Given the description of an element on the screen output the (x, y) to click on. 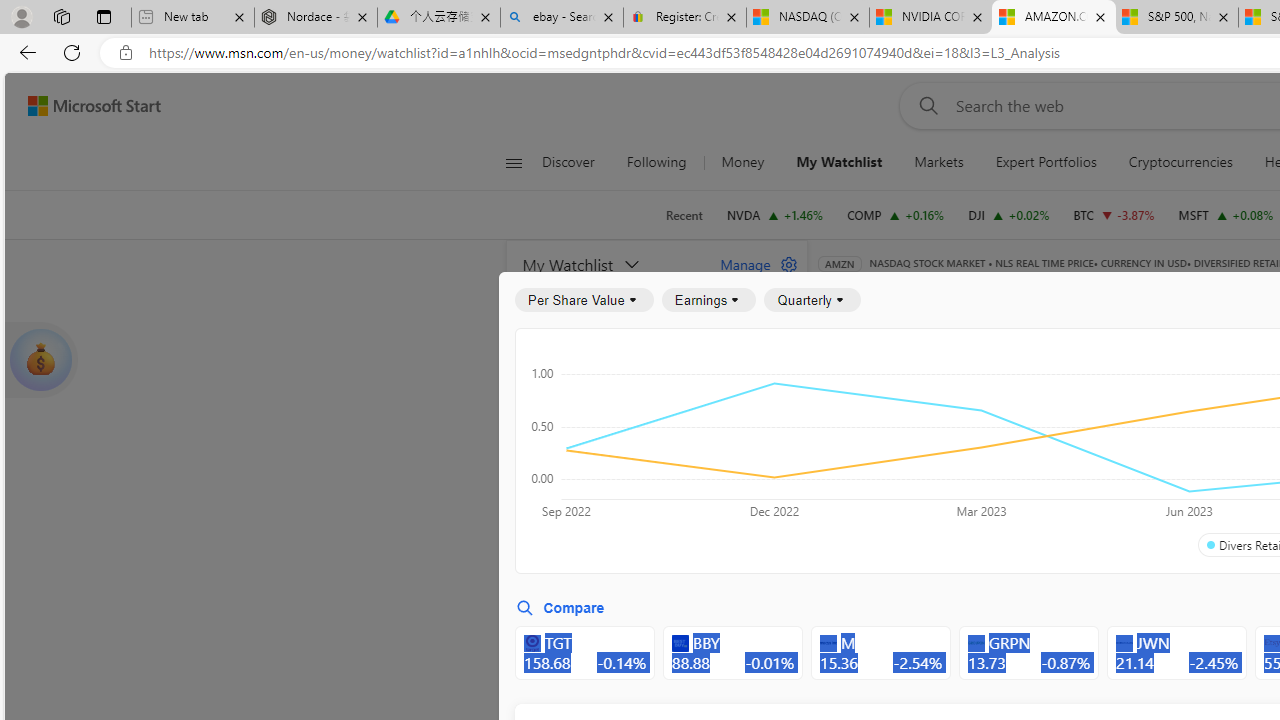
My Watchlist (610, 264)
Balance Sheet (1079, 391)
Cryptocurrencies (1179, 162)
Class: autoSuggestIcon-DS-EntryPoint1-2 (1124, 643)
NVDA NVIDIA CORPORATION increase 128.30 +1.84 +1.46% (774, 214)
Compare (559, 608)
